Given the description of an element on the screen output the (x, y) to click on. 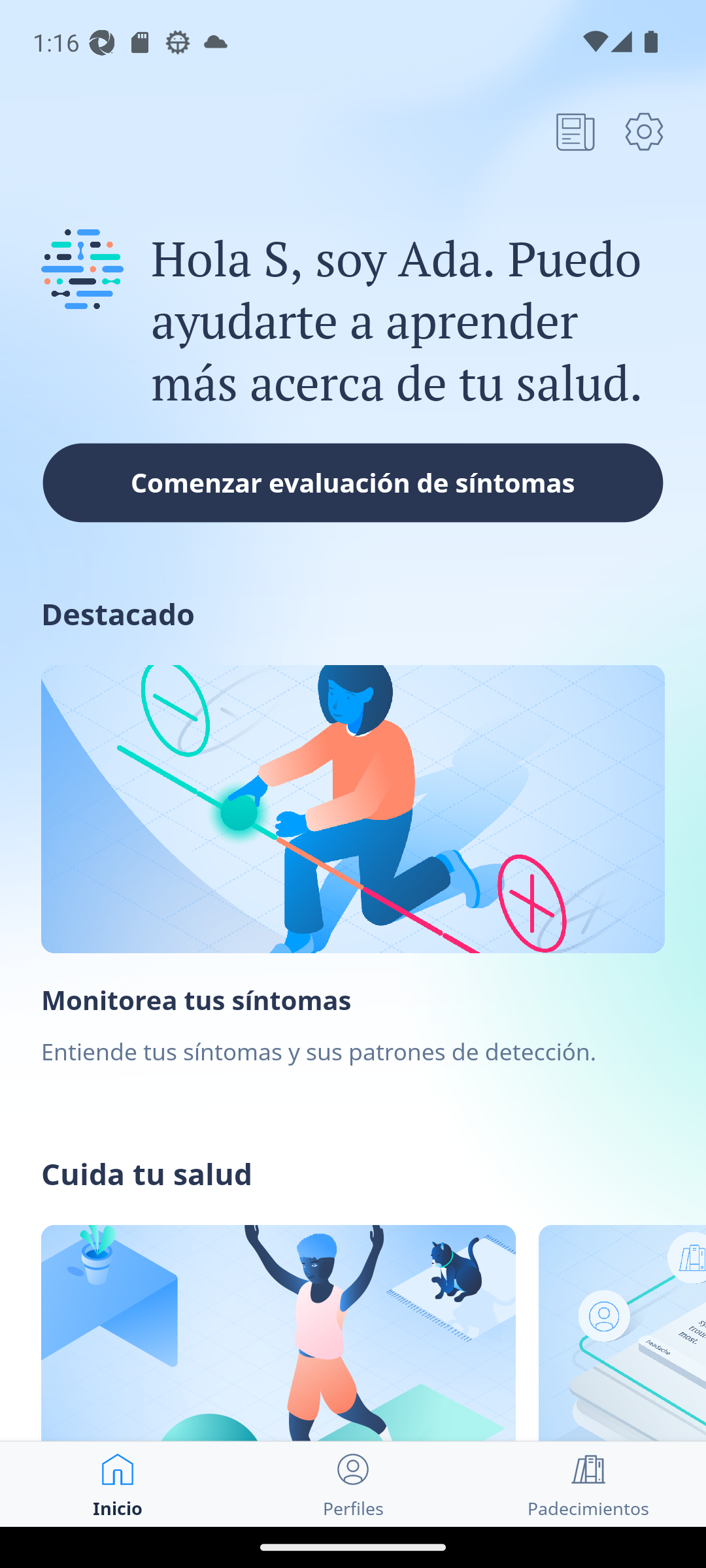
article icon , open articles (574, 131)
settings icon, open settings (644, 131)
Comenzar evaluación de síntomas (352, 482)
Inicio (117, 1484)
Perfiles (352, 1484)
Padecimientos (588, 1484)
